Given the description of an element on the screen output the (x, y) to click on. 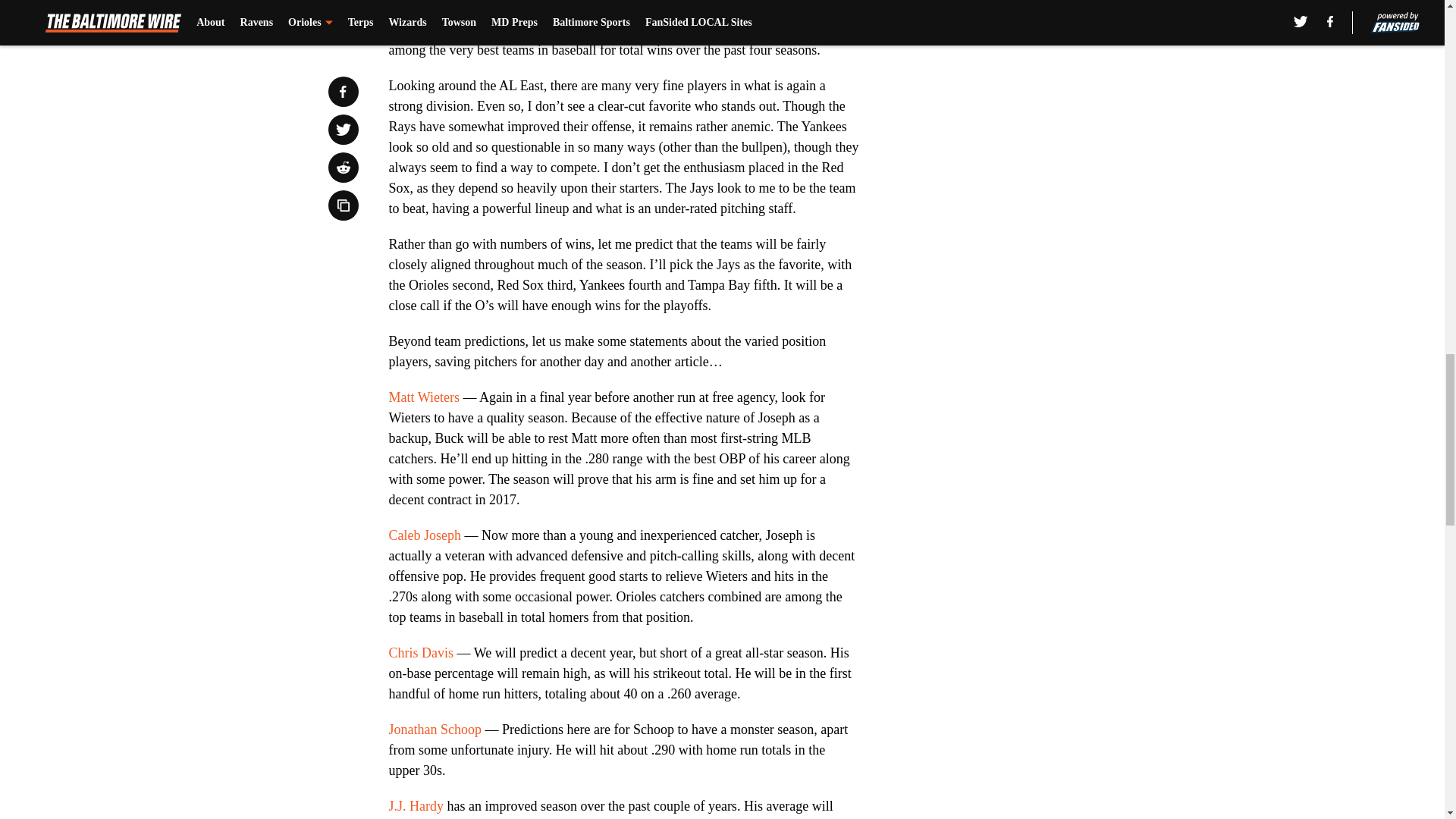
Caleb Joseph (424, 534)
Chris Davis (420, 652)
Matt Wieters (423, 396)
J.J. Hardy (416, 806)
Jonathan Schoop (434, 729)
